Given the description of an element on the screen output the (x, y) to click on. 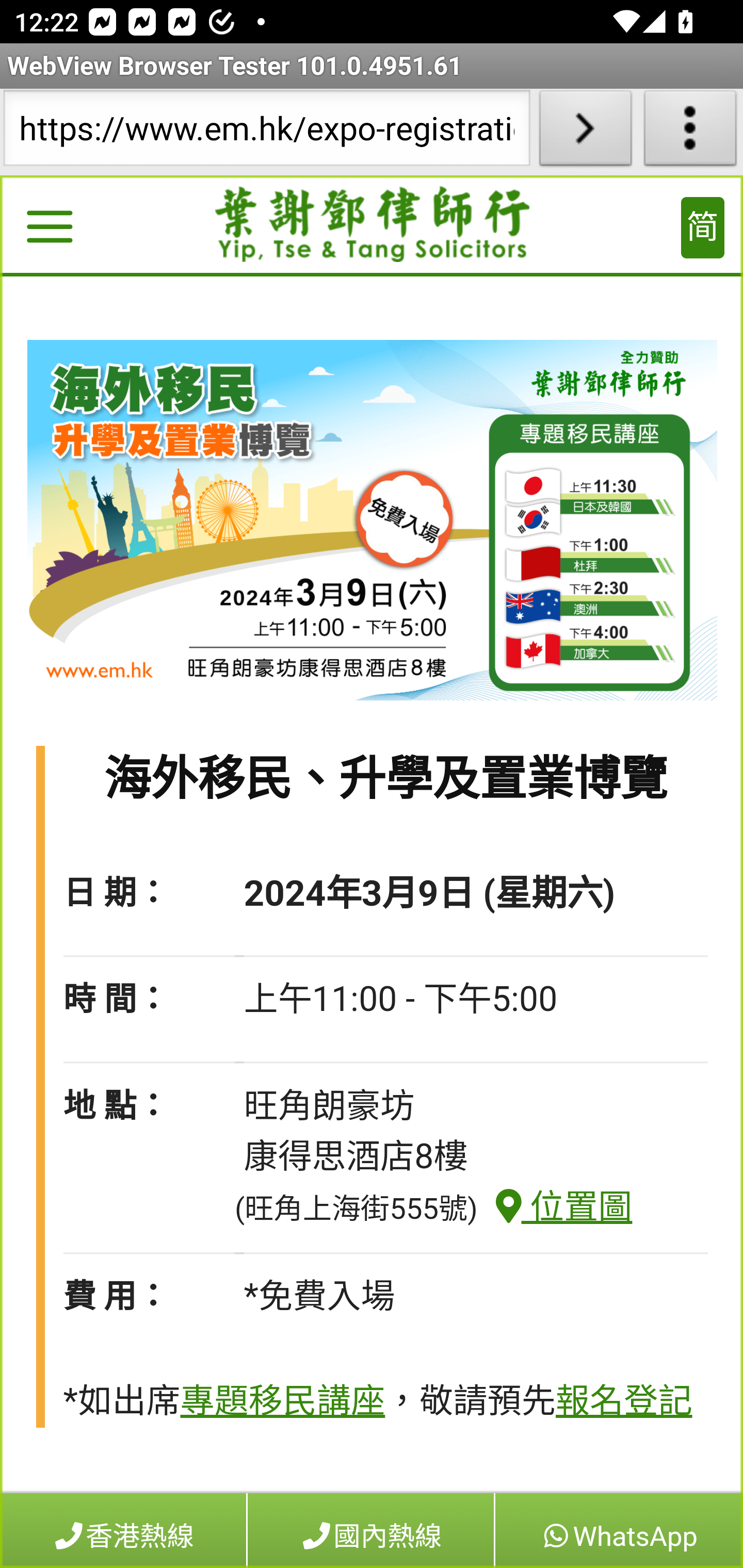
Load URL (585, 132)
About WebView (690, 132)
葉謝鄧律師行 (372, 224)
 (48, 229)
简 (702, 227)
 位置圖 (555, 1206)
專題移民講座 (282, 1401)
報名登記 (623, 1401)
香港熱線 (123, 1530)
國內熱線 (370, 1530)
WhatsApp (618, 1530)
